Given the description of an element on the screen output the (x, y) to click on. 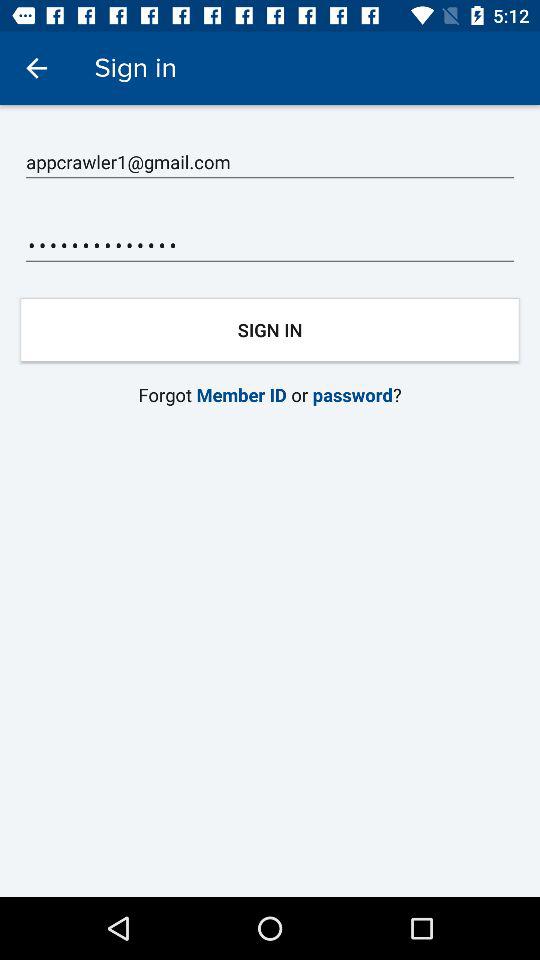
press icon below the sign in item (270, 162)
